Given the description of an element on the screen output the (x, y) to click on. 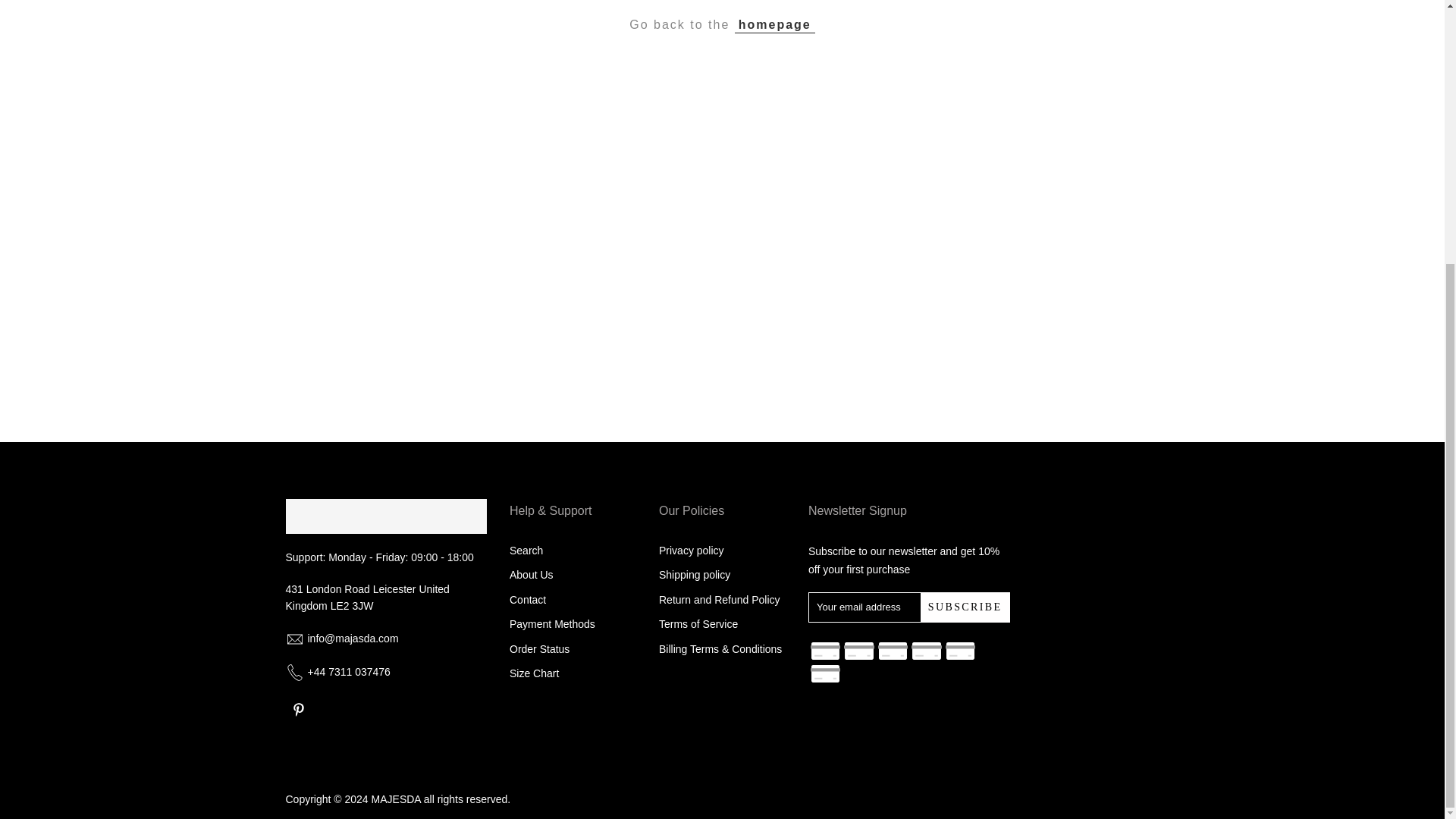
Size Chart (534, 673)
Payment Methods (552, 623)
homepage (775, 24)
Search (526, 550)
Order Status (539, 648)
Contact (527, 599)
Shipping policy (694, 574)
Return and Refund Policy (719, 599)
SUBSCRIBE (965, 607)
Follow on Pinterest (298, 709)
